Given the description of an element on the screen output the (x, y) to click on. 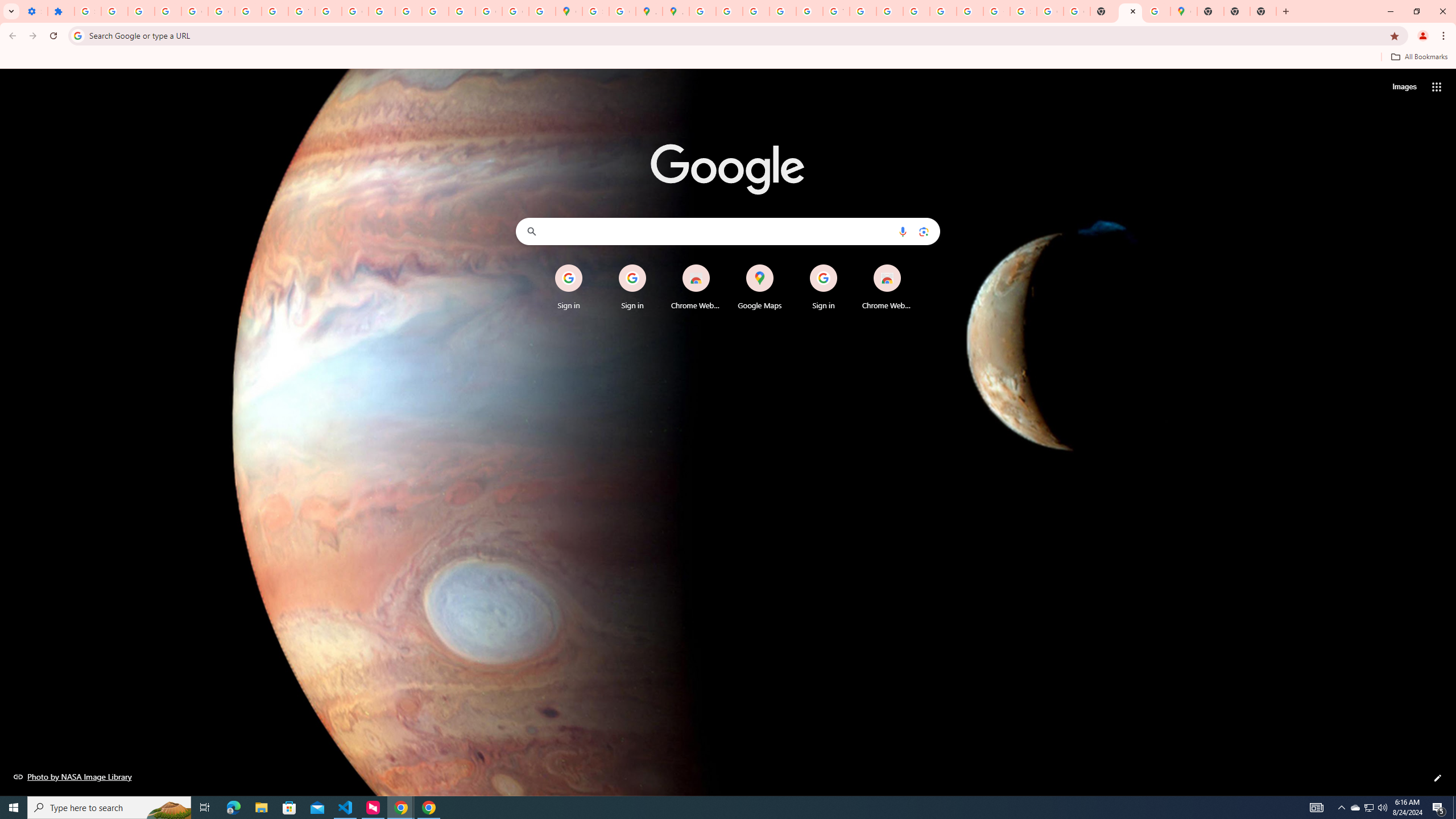
New Tab (1210, 11)
Create your Google Account (622, 11)
New Tab (1130, 11)
https://scholar.google.com/ (328, 11)
